Given the description of an element on the screen output the (x, y) to click on. 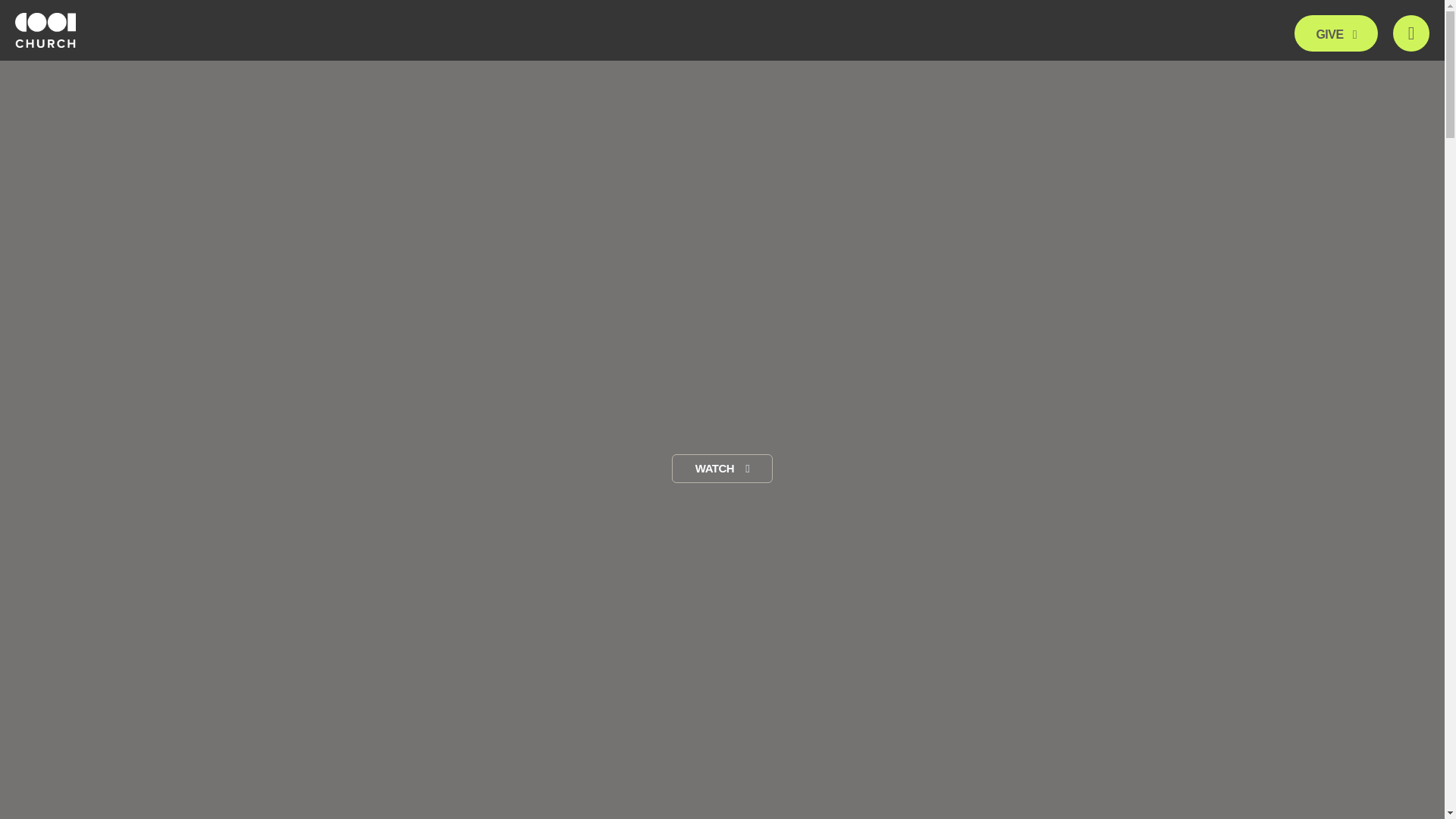
WATCH (722, 468)
GIVE (1335, 33)
